Given the description of an element on the screen output the (x, y) to click on. 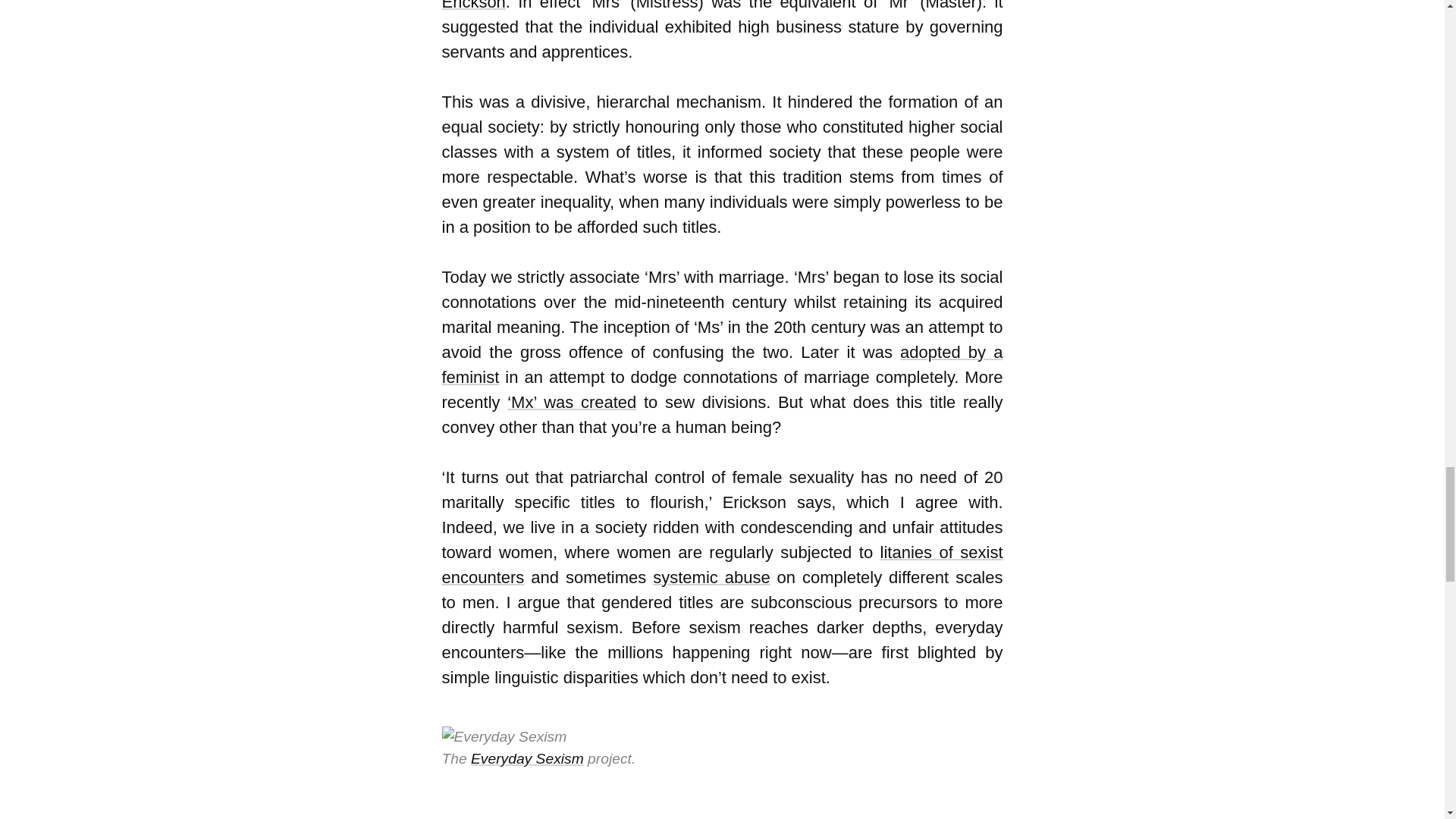
adopted by a feminist (722, 364)
according to Amy Louise Erickson (722, 5)
litanies of sexist encounters (722, 564)
